Given the description of an element on the screen output the (x, y) to click on. 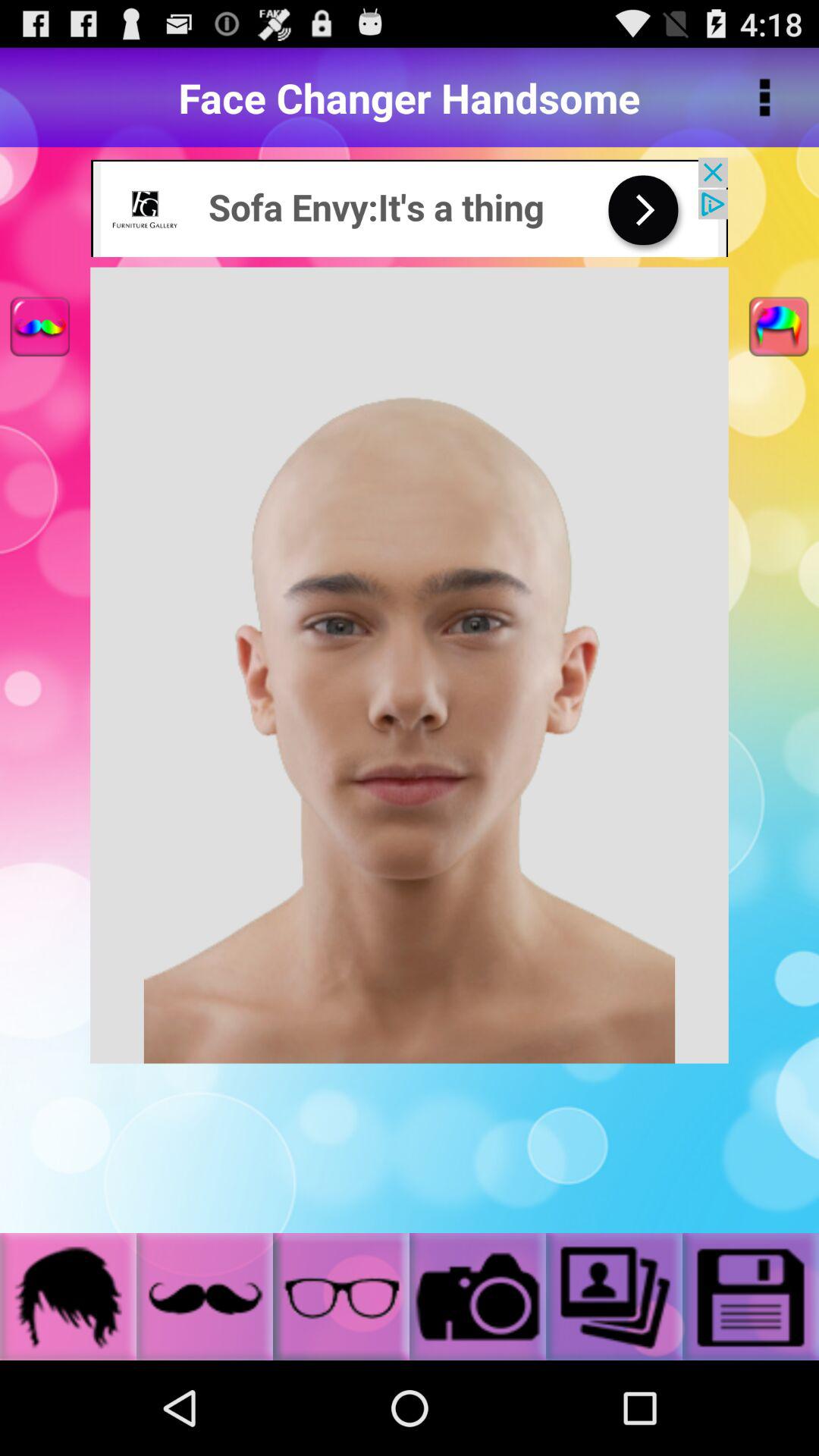
select the photos (614, 1296)
